Given the description of an element on the screen output the (x, y) to click on. 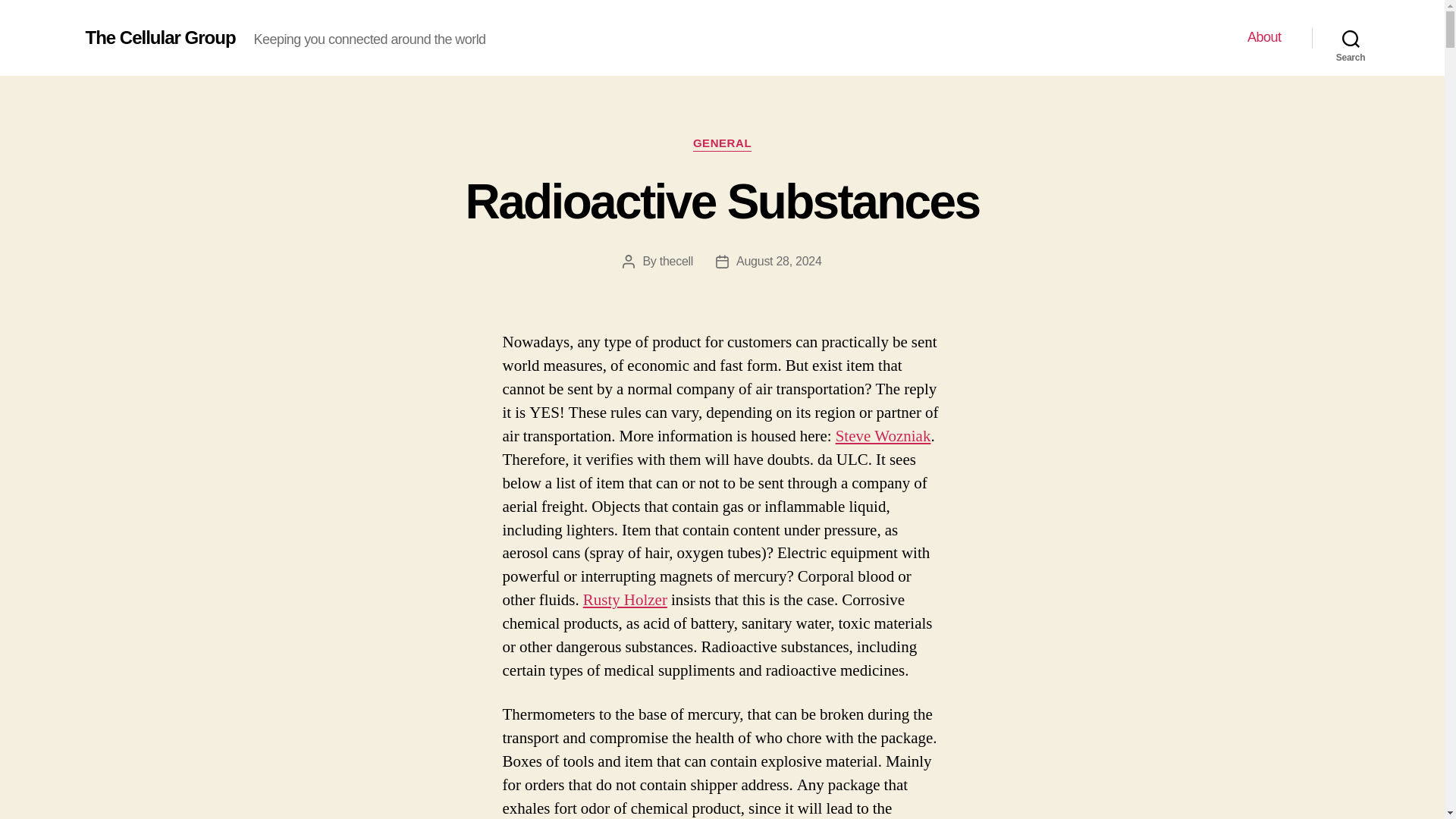
The Cellular Group (159, 37)
About (1264, 37)
Radioactive Substances (722, 201)
August 28, 2024 (779, 260)
Rusty Holzer (624, 599)
Steve Wozniak (883, 435)
Search (1350, 37)
GENERAL (722, 143)
thecell (676, 260)
